Given the description of an element on the screen output the (x, y) to click on. 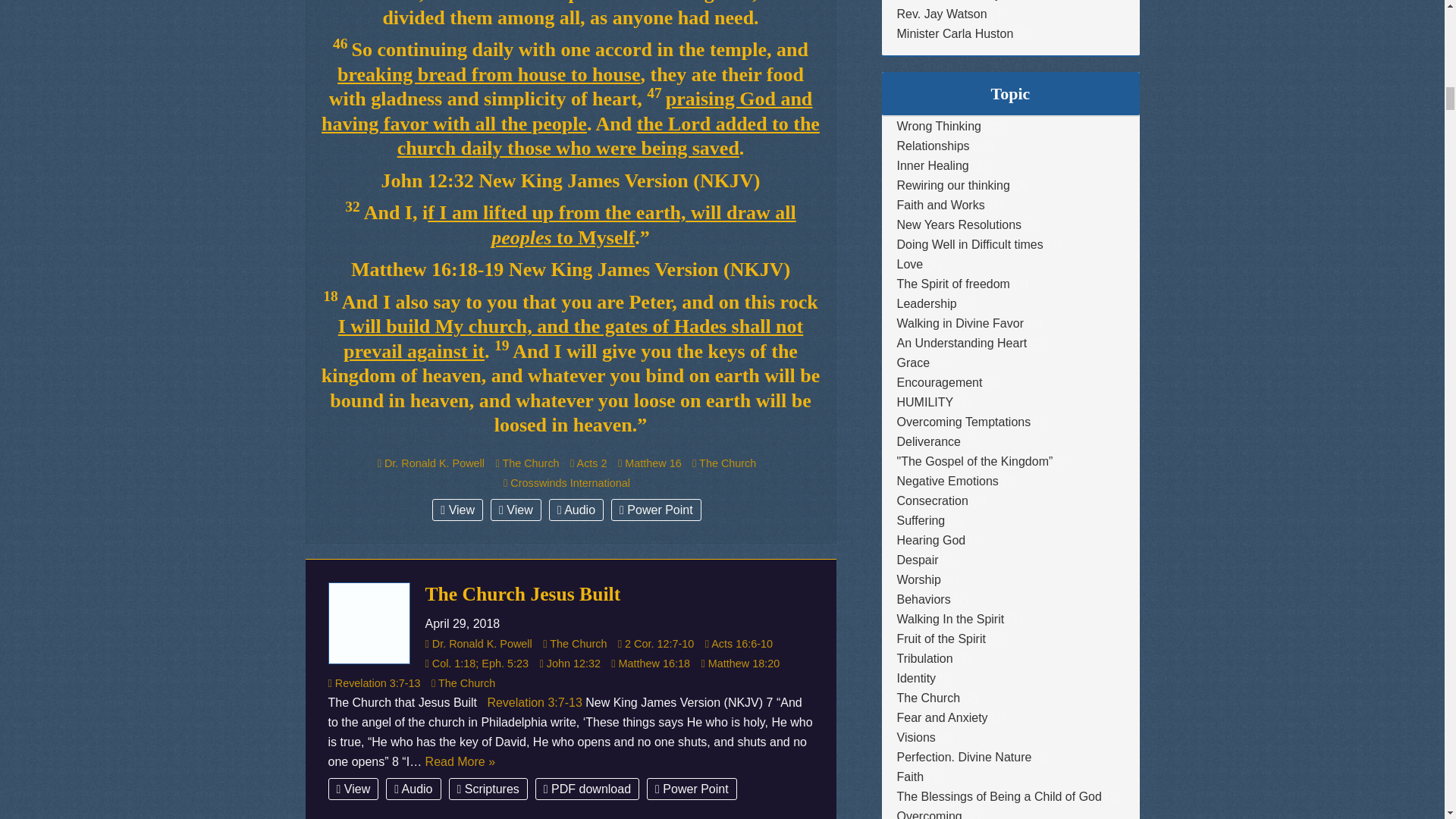
The Church (530, 462)
View all sermons on the book of Matthew 16 (652, 462)
Dr. Ronald K. Powell (434, 462)
View all sermons on the book of Acts 2 (592, 462)
View all sermons by Dr. Ronald K. Powell (434, 462)
View all sermons in the The Church series (530, 462)
